Given the description of an element on the screen output the (x, y) to click on. 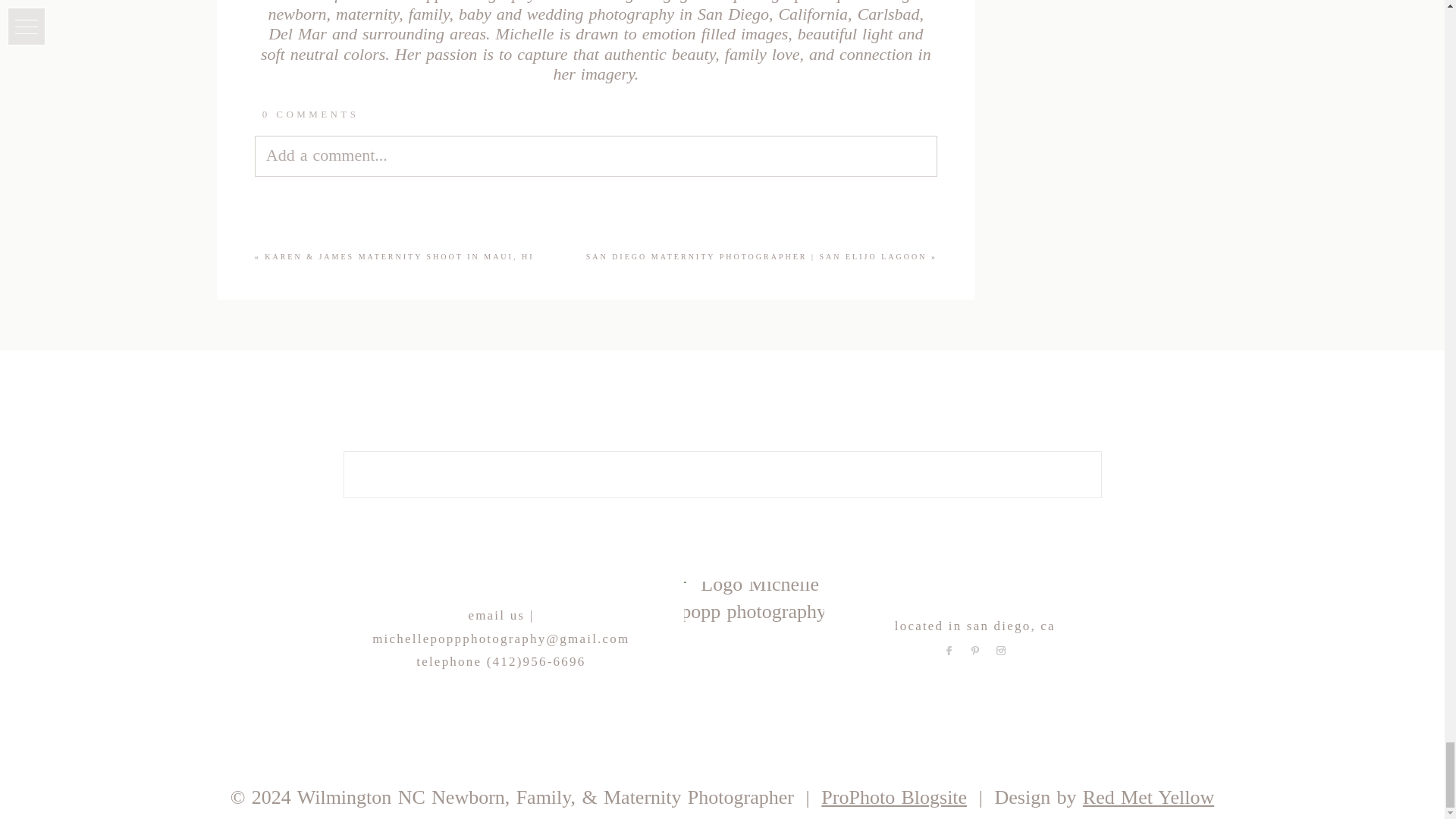
Red Met Yellow (1148, 797)
ProPhoto Blogsite (893, 797)
ProPhoto Blogsite (893, 797)
